Given the description of an element on the screen output the (x, y) to click on. 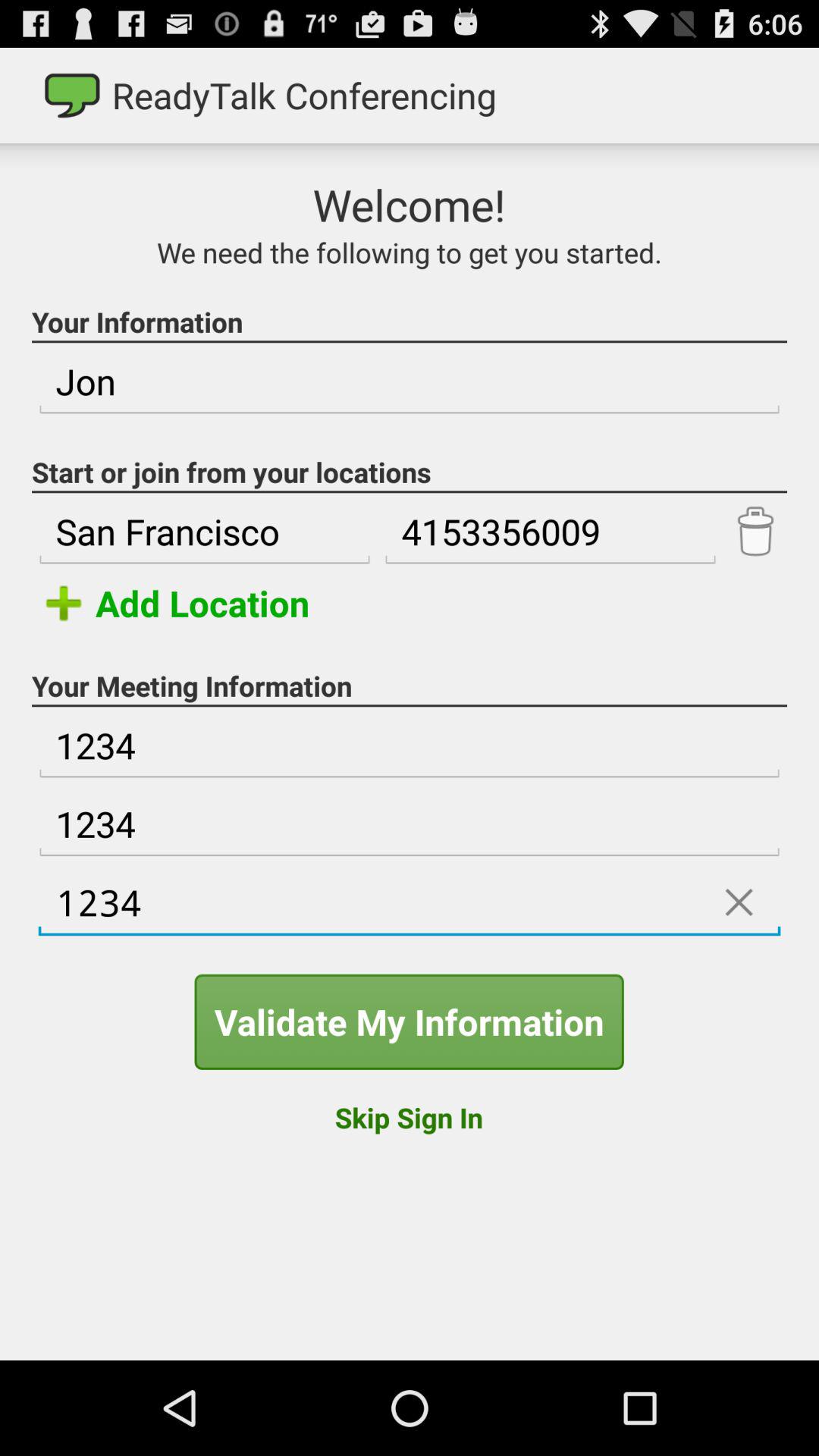
scroll until skip sign in (408, 1117)
